Given the description of an element on the screen output the (x, y) to click on. 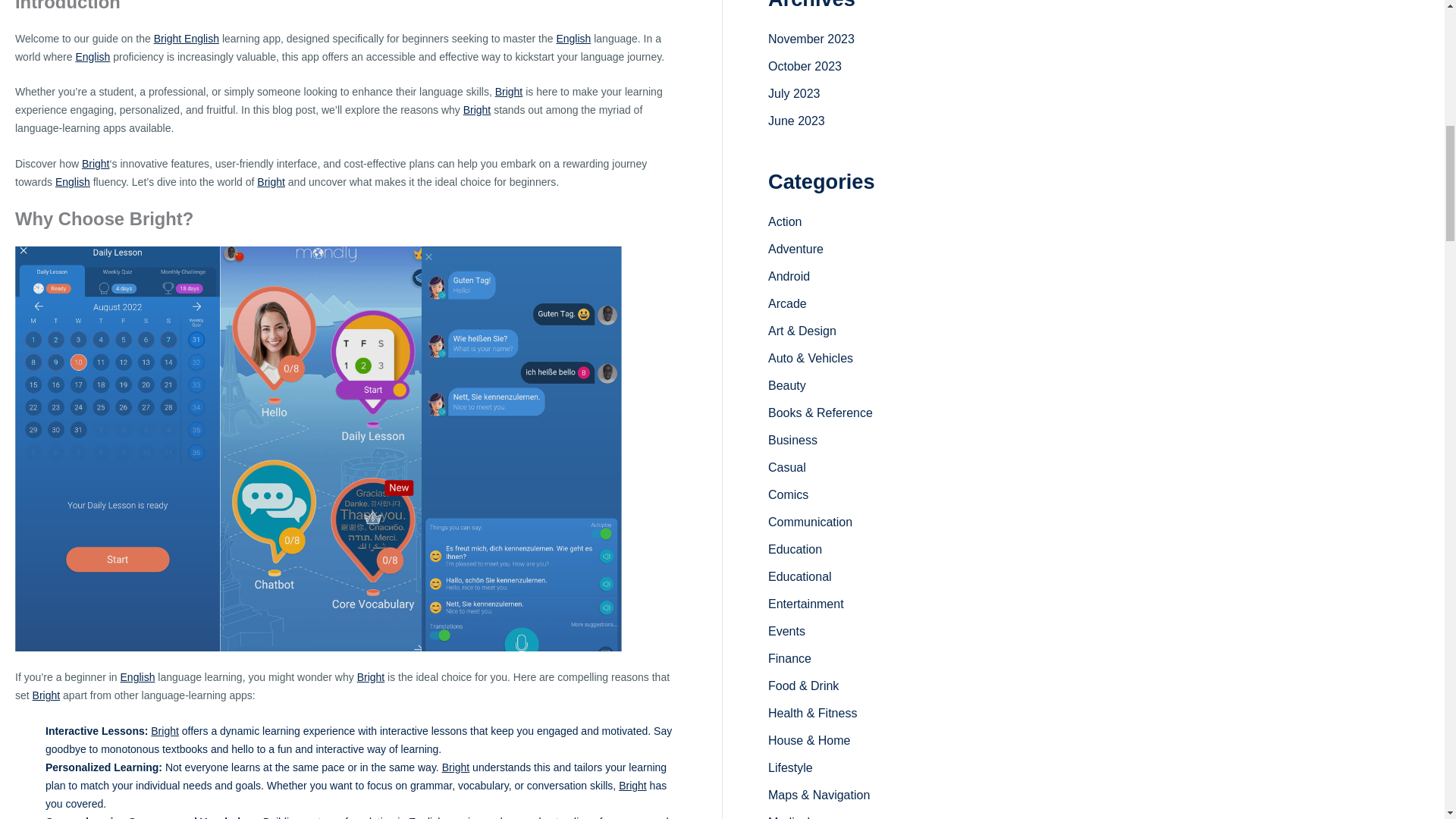
Bright (46, 695)
Bright English (186, 38)
English (92, 56)
Bright (271, 182)
English (573, 38)
English (92, 56)
Bright (370, 676)
Bright (46, 695)
Bright (271, 182)
Bright (95, 163)
English (137, 676)
Bright (477, 110)
Bright (477, 110)
English (72, 182)
Bright (370, 676)
